Given the description of an element on the screen output the (x, y) to click on. 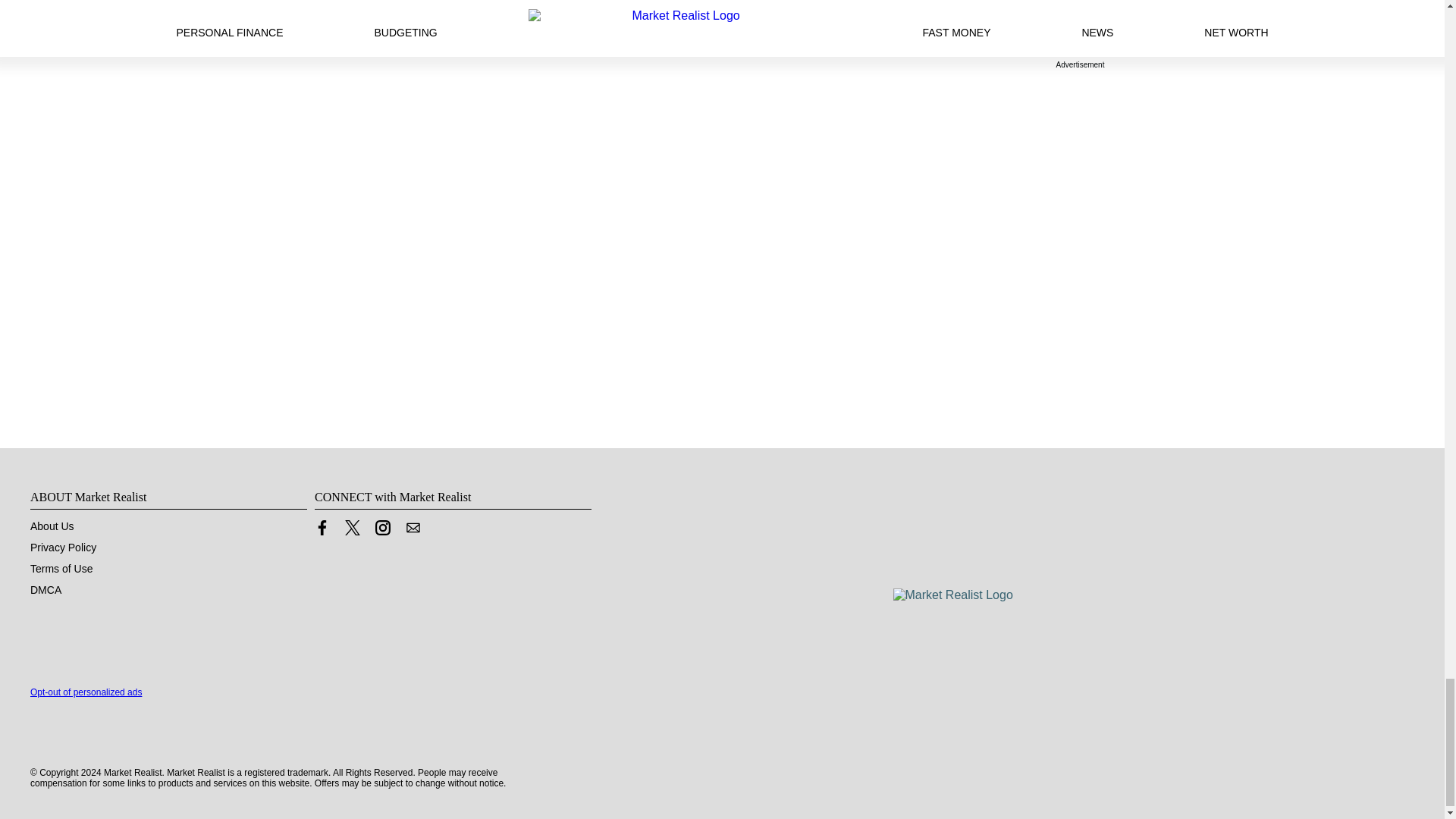
Link to Instagram (382, 527)
Opt-out of personalized ads (85, 692)
Contact us by Email (413, 531)
Terms of Use (61, 568)
Link to X (352, 531)
DMCA (45, 589)
Privacy Policy (63, 547)
Link to X (352, 527)
Link to Instagram (382, 531)
About Us (52, 526)
